Given the description of an element on the screen output the (x, y) to click on. 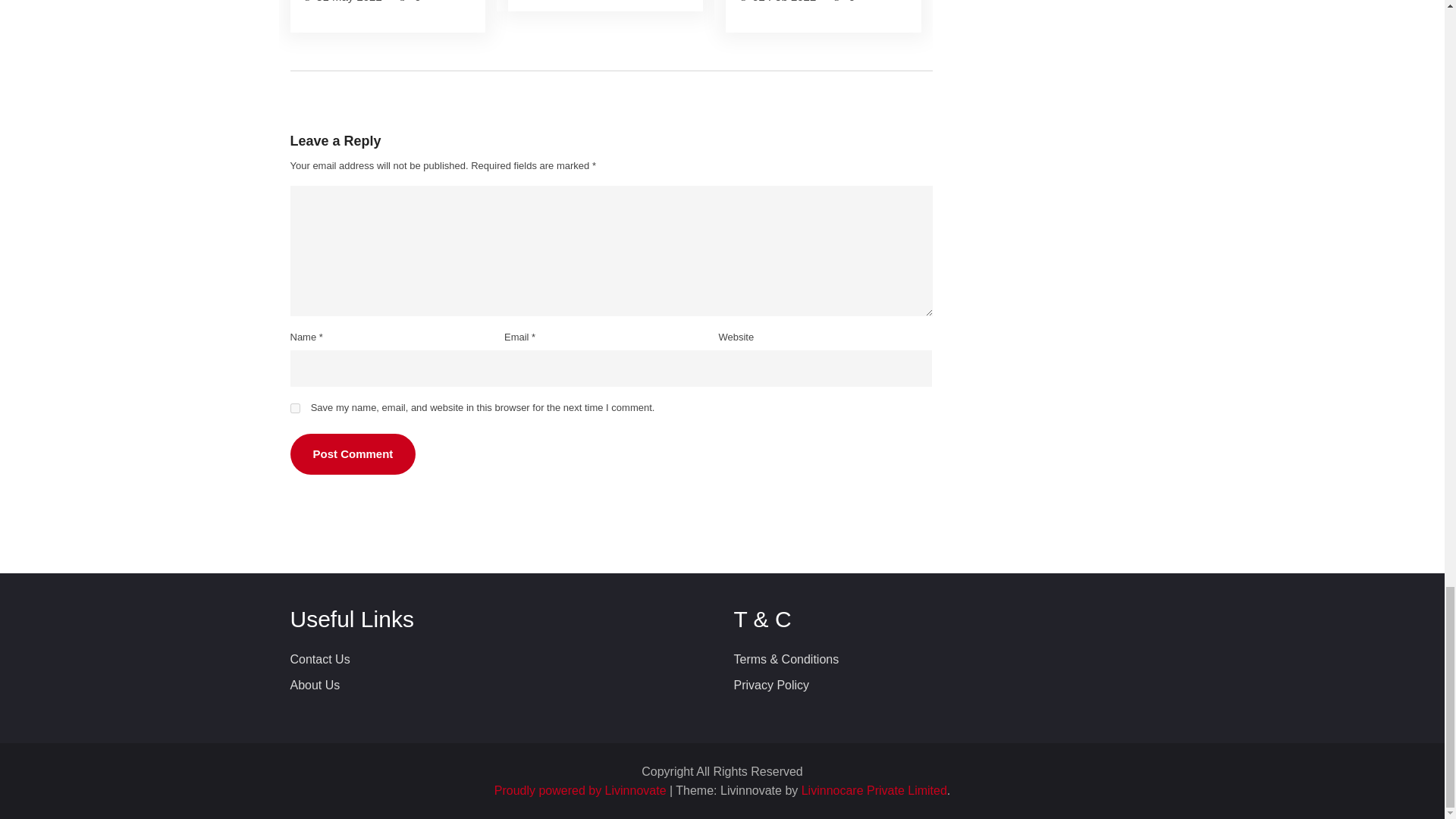
Post Comment (351, 454)
Post Comment (351, 454)
yes (294, 408)
